Given the description of an element on the screen output the (x, y) to click on. 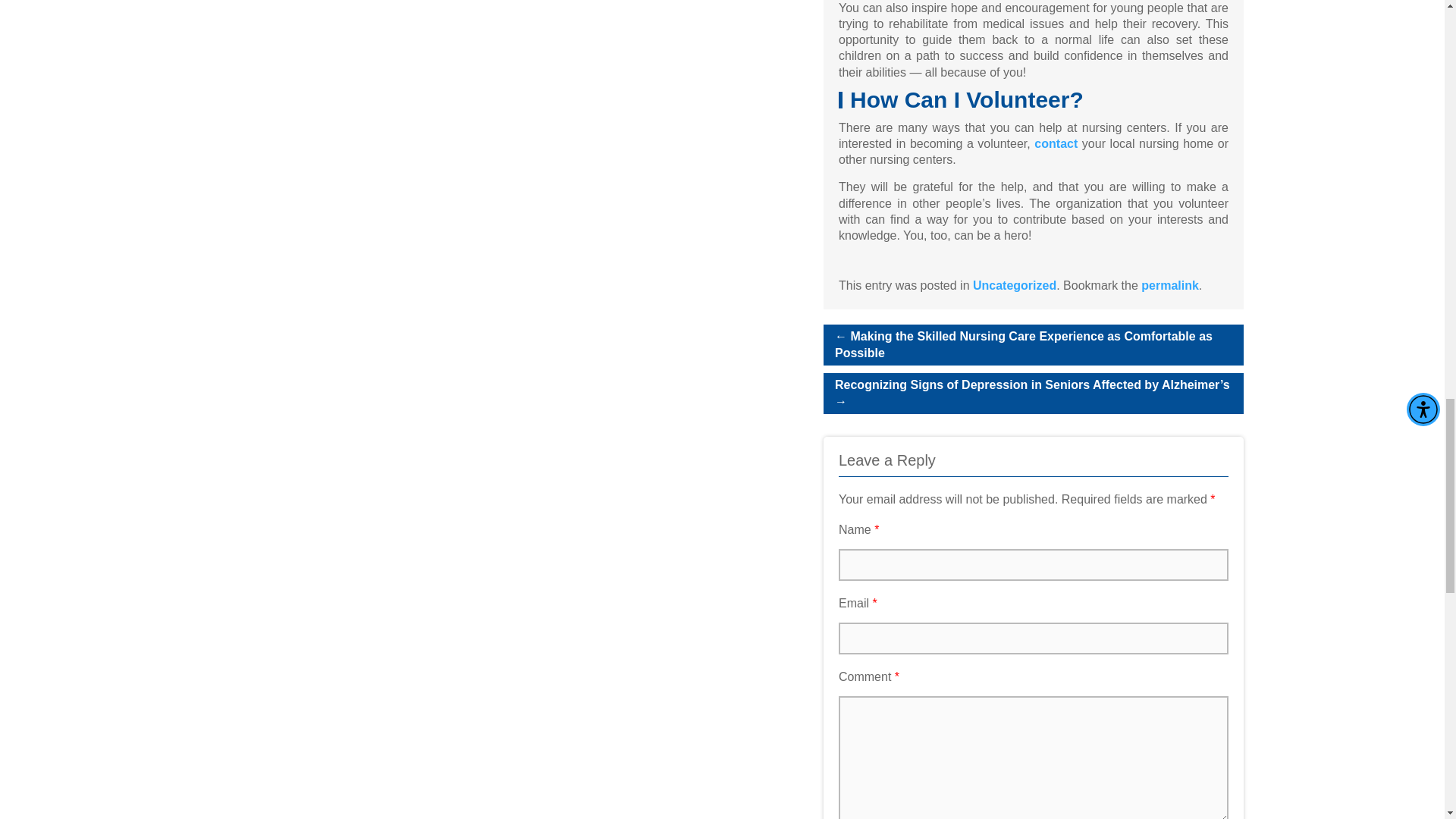
Uncategorized (1014, 285)
contact (1055, 143)
permalink (1169, 285)
